Given the description of an element on the screen output the (x, y) to click on. 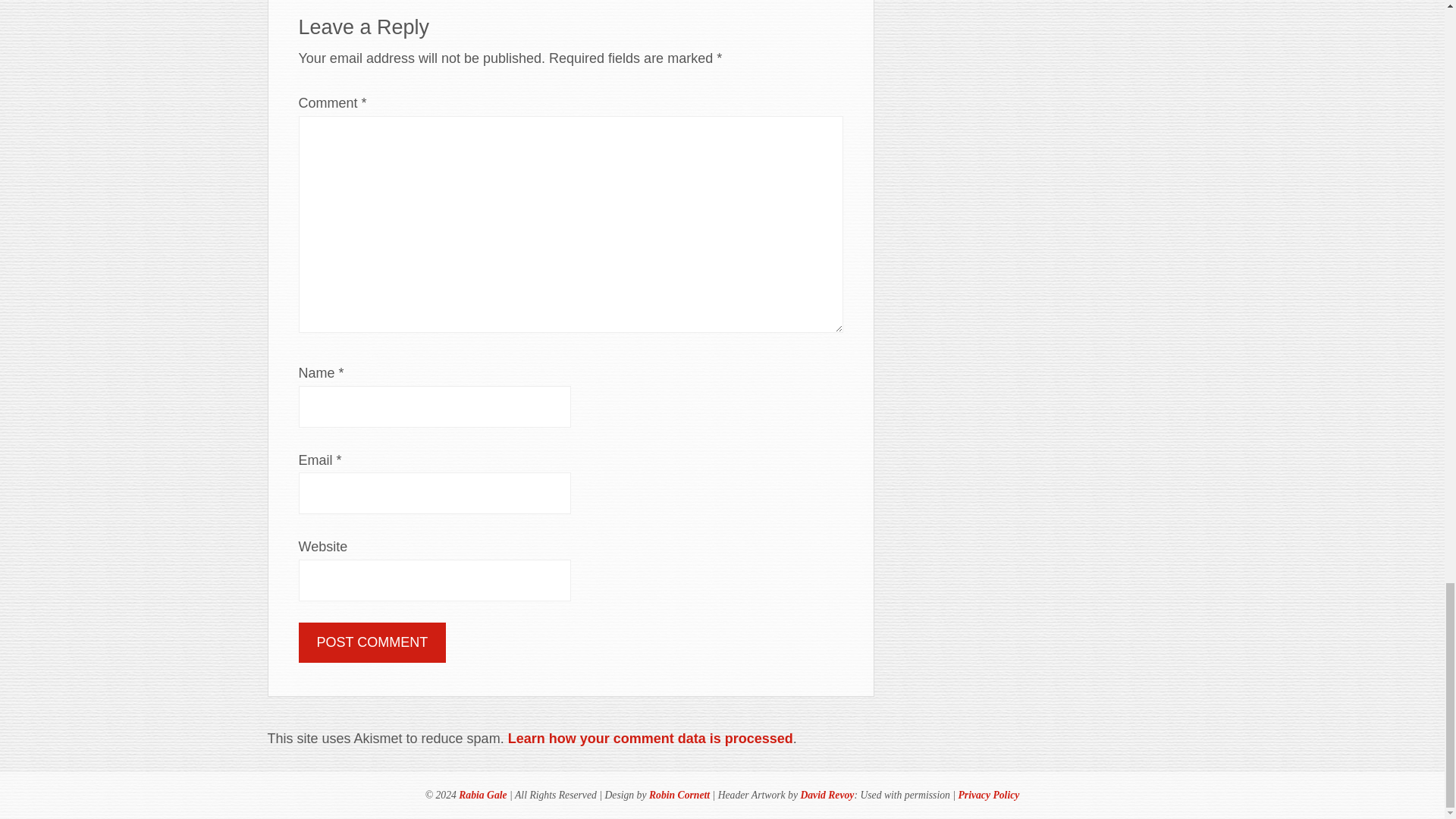
Robin Cornett (679, 794)
Rabia Gale (482, 794)
David Revoy (826, 794)
Post Comment (372, 642)
Privacy Policy (988, 794)
Learn how your comment data is processed (650, 738)
Post Comment (372, 642)
